Given the description of an element on the screen output the (x, y) to click on. 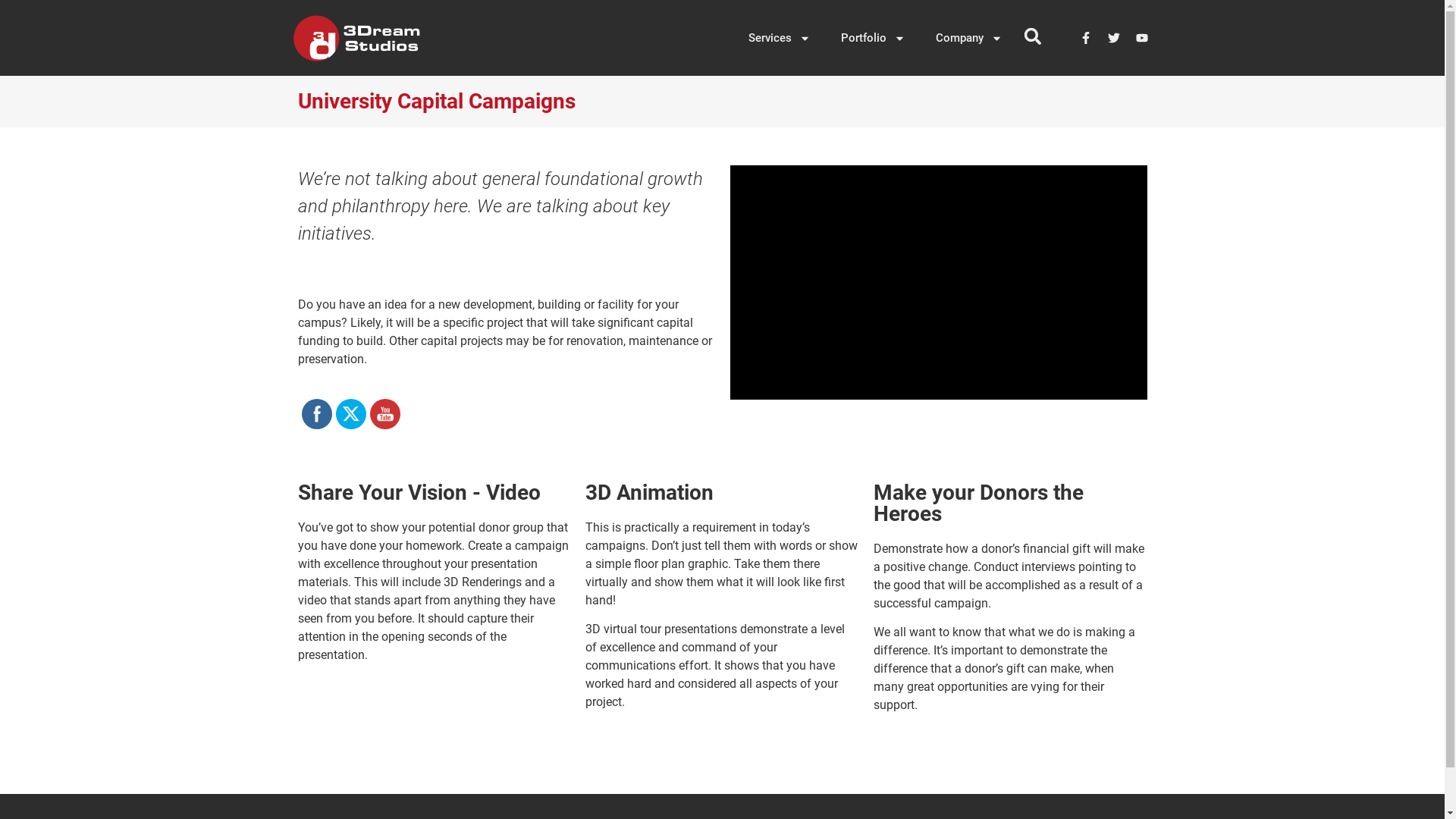
Twitter Element type: hover (350, 413)
Facebook Element type: hover (315, 413)
Portfolio Element type: text (872, 37)
20203DreamWebsiteLogo Element type: hover (355, 37)
YouTube Element type: hover (384, 413)
Company Element type: text (968, 37)
vimeo Video Player Element type: hover (937, 282)
Services Element type: text (778, 37)
